Given the description of an element on the screen output the (x, y) to click on. 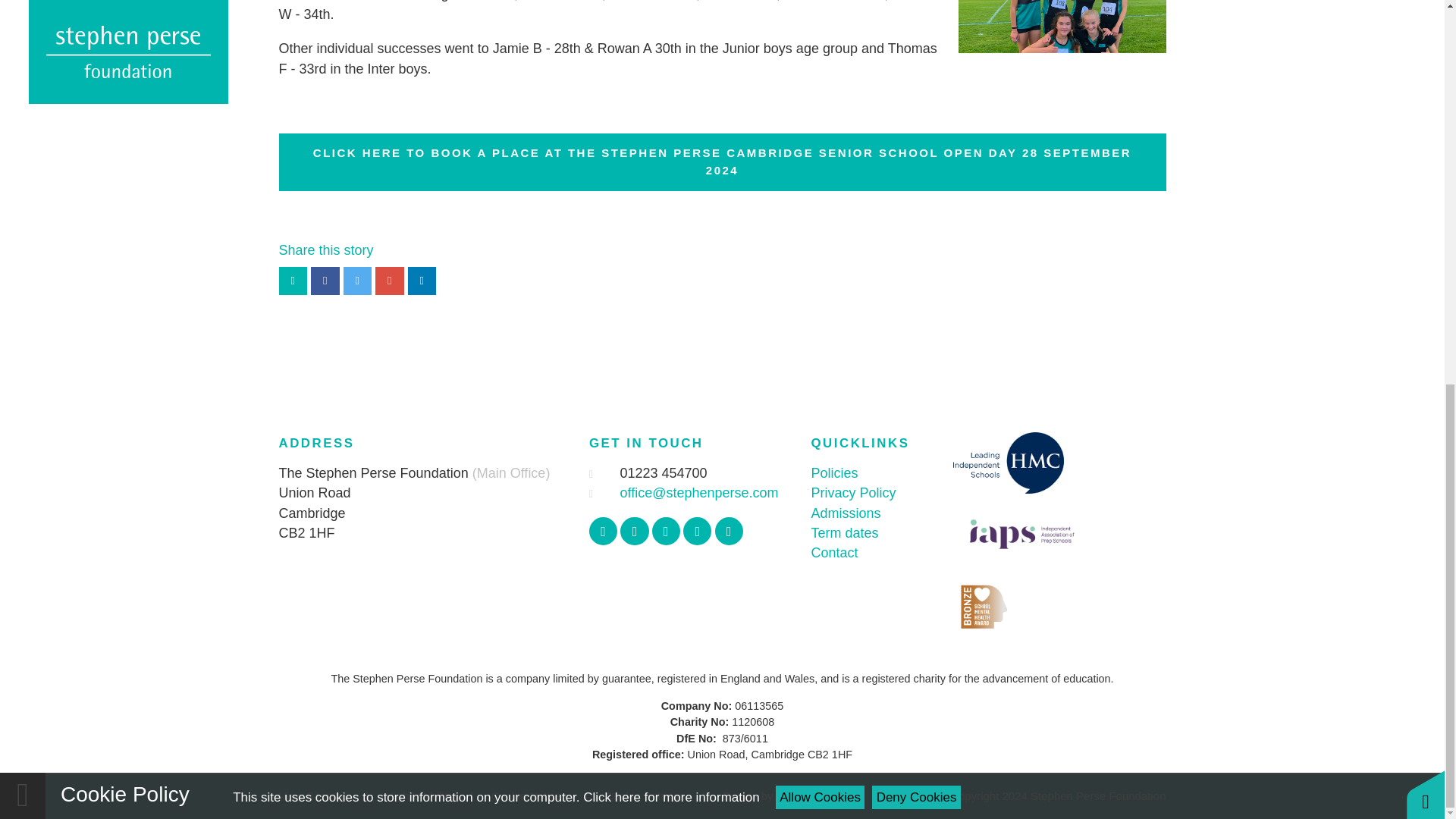
Instagram (665, 530)
LinkedIn (728, 530)
Cookie Settings (644, 795)
Facebook (603, 530)
Cross Country Cup Competition (1062, 52)
Twitter (633, 530)
See cookie policy (670, 75)
YouTube (696, 530)
